Given the description of an element on the screen output the (x, y) to click on. 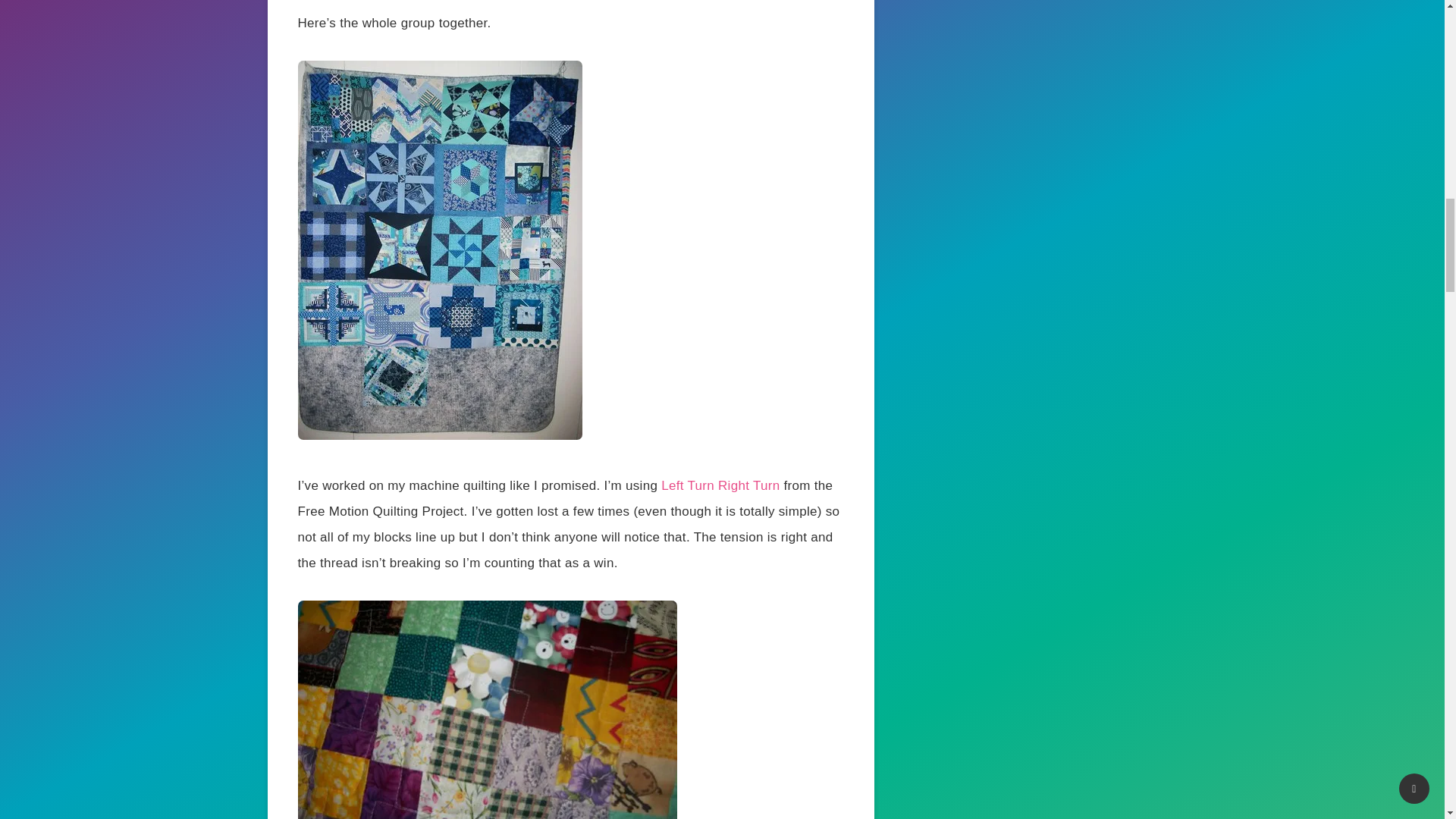
Left Turn Right Turn (719, 485)
JoJo's group by spirit97, on Flickr (438, 435)
